Given the description of an element on the screen output the (x, y) to click on. 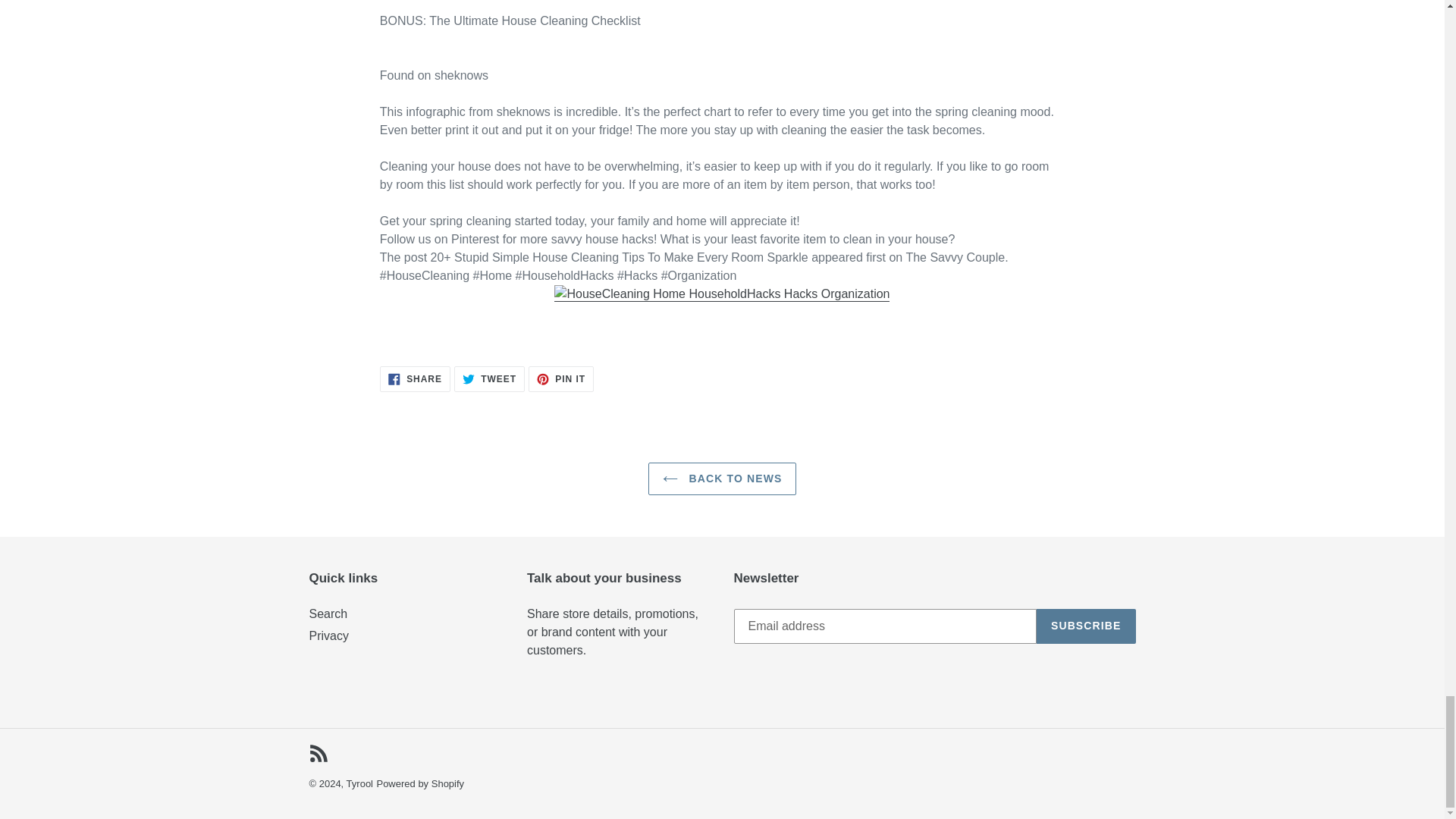
Tyrool (359, 783)
SUBSCRIBE (1085, 626)
RSS (561, 379)
Powered by Shopify (318, 752)
BACK TO NEWS (419, 783)
Search (489, 379)
Privacy (721, 478)
